Given the description of an element on the screen output the (x, y) to click on. 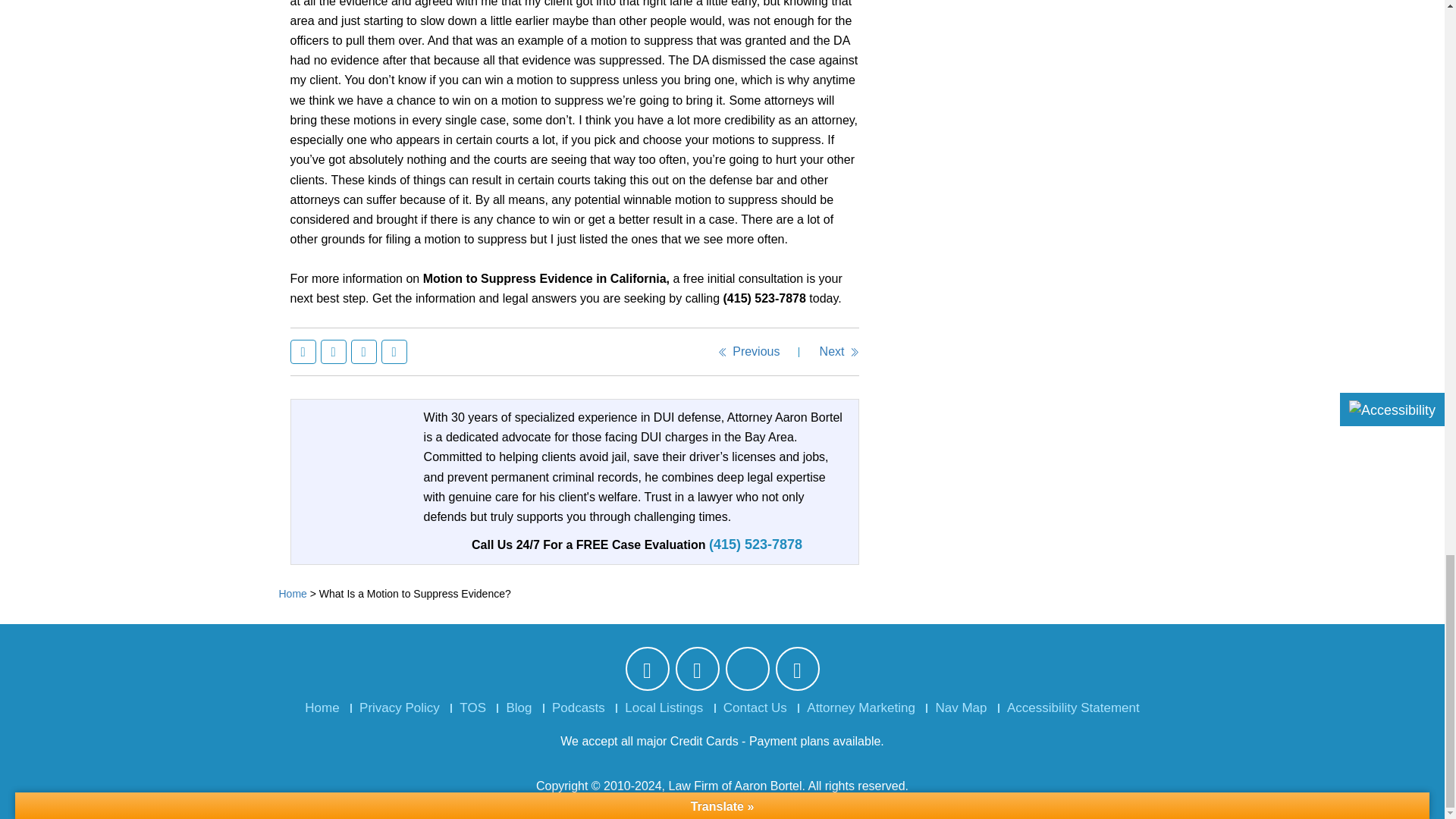
LinkedIn (365, 351)
Avvo (746, 669)
Go to Aaron Bortel. (293, 593)
Facebook (646, 673)
Facebook (304, 351)
Yelp (697, 673)
Twitter (335, 351)
E-Mail (395, 351)
Youtube (796, 673)
